Given the description of an element on the screen output the (x, y) to click on. 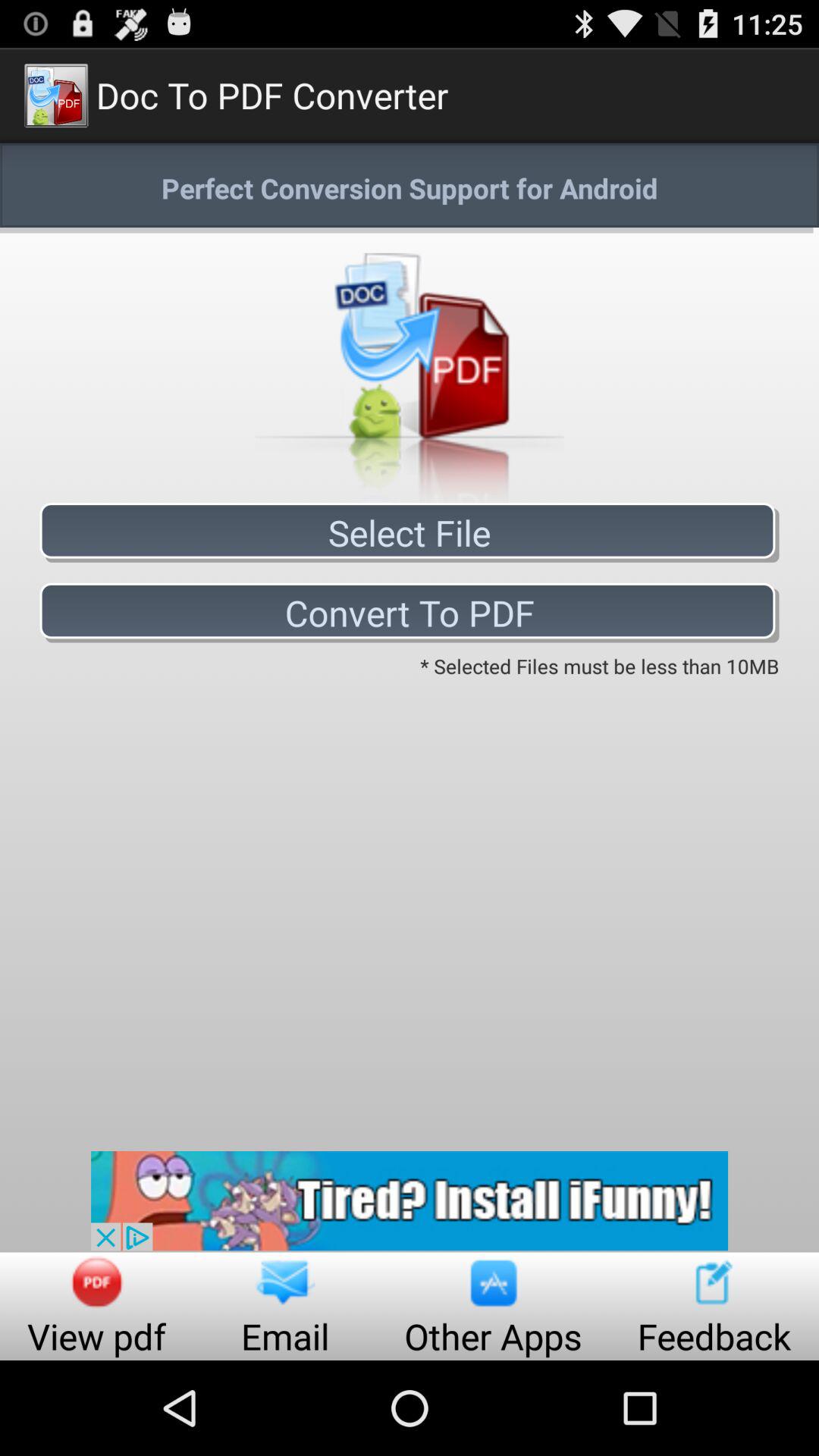
advertisement page (409, 1200)
